Given the description of an element on the screen output the (x, y) to click on. 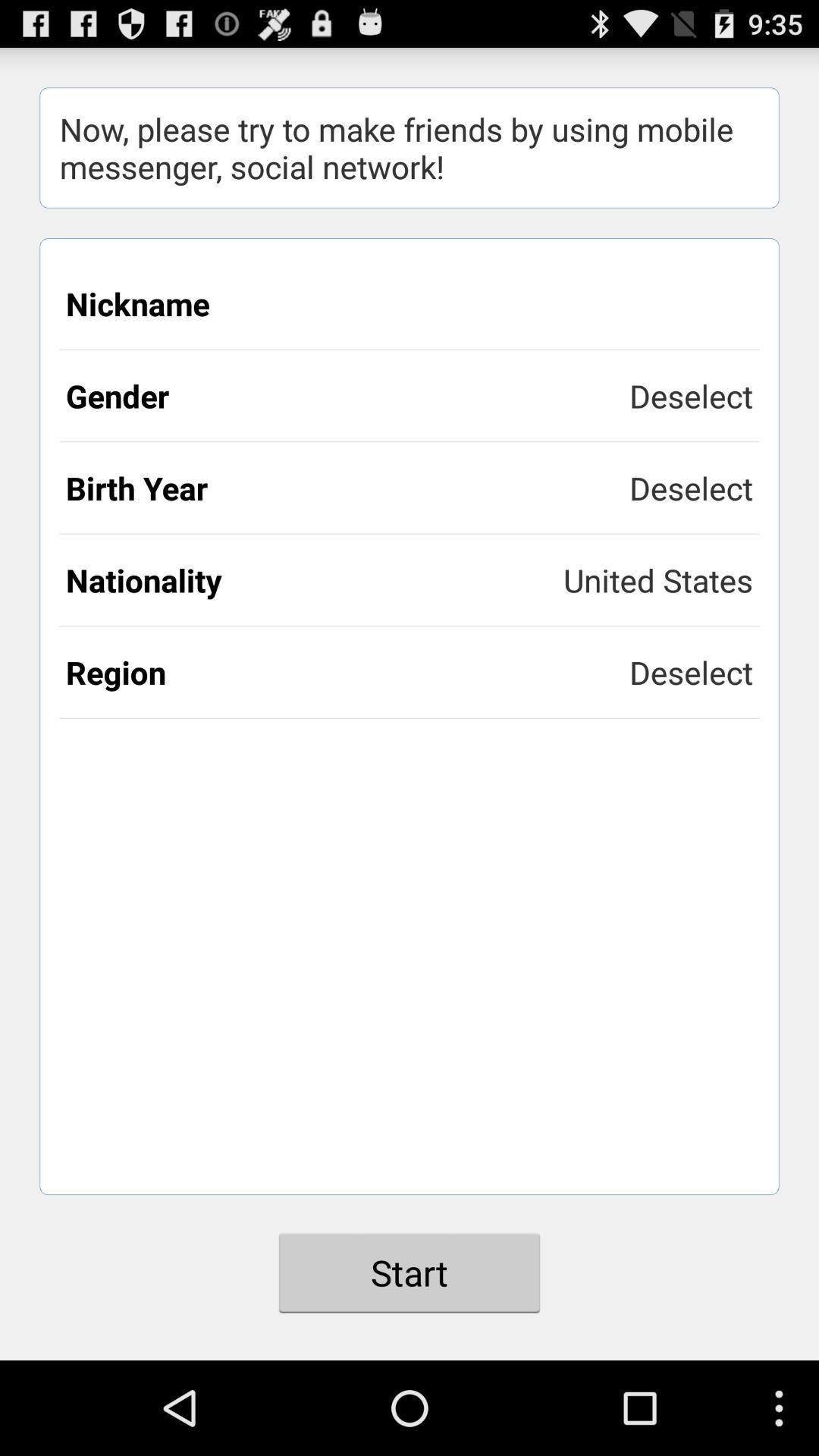
press the item to the left of united states app (314, 579)
